Given the description of an element on the screen output the (x, y) to click on. 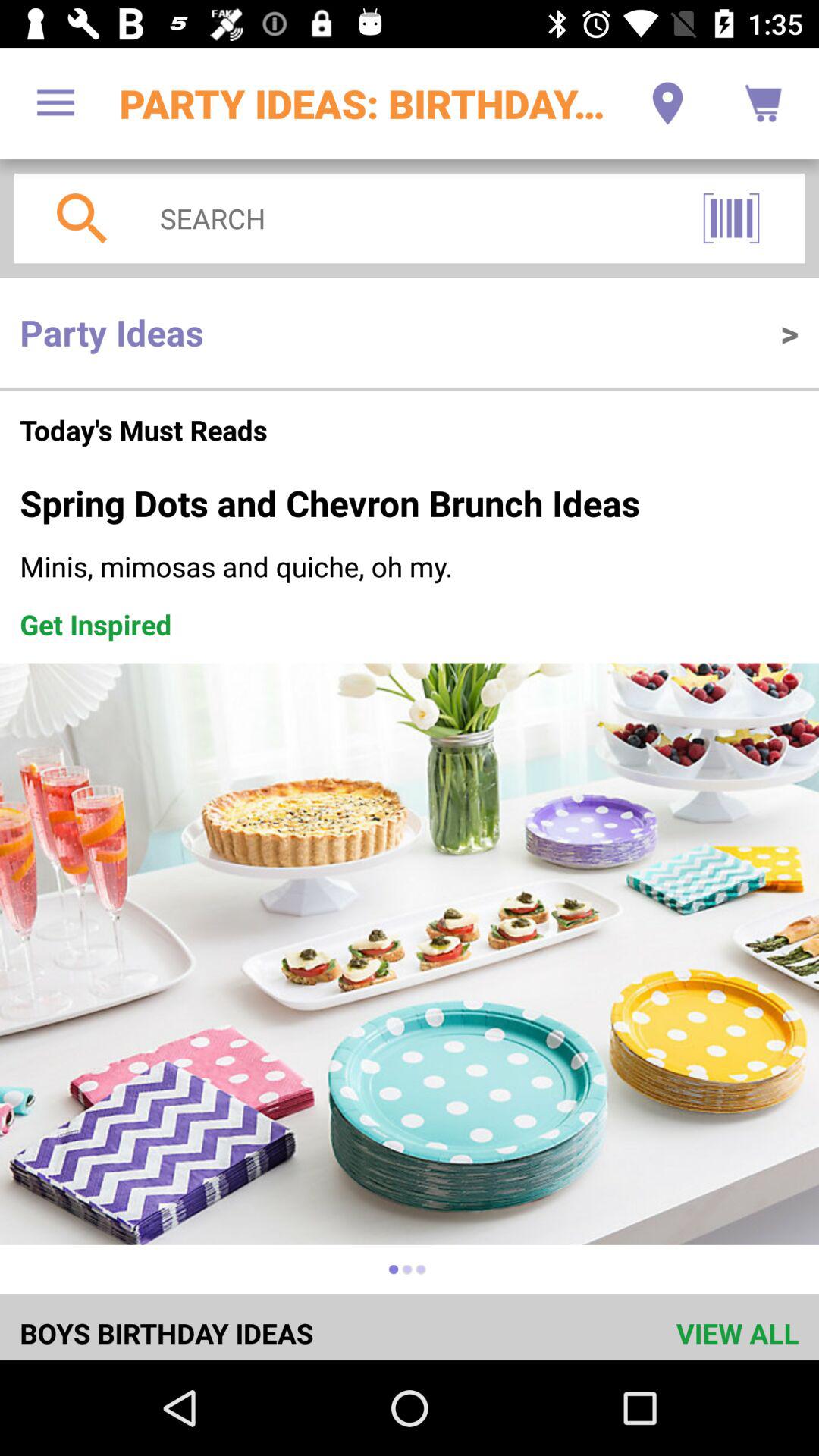
flip until the minis mimosas and item (409, 566)
